Given the description of an element on the screen output the (x, y) to click on. 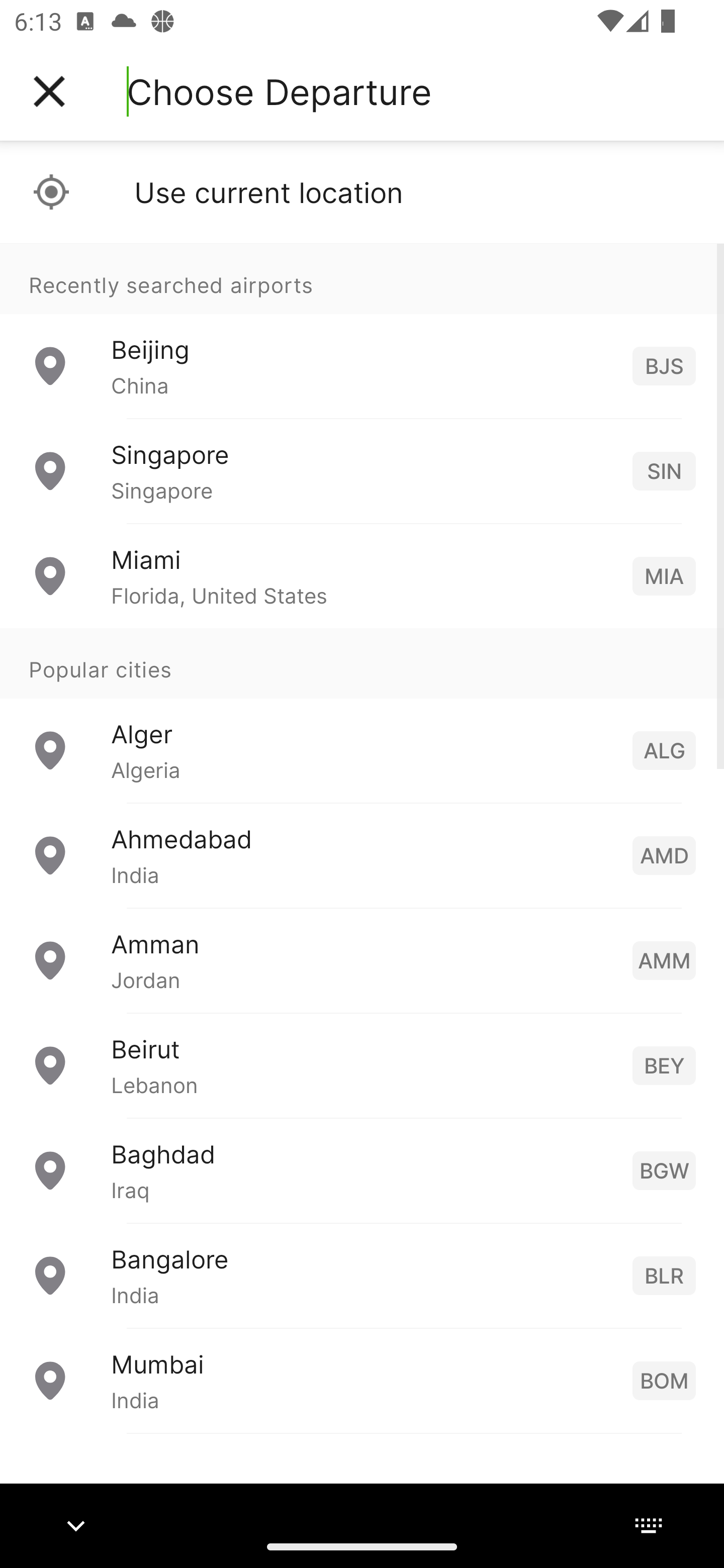
Choose Departure (279, 91)
Use current location (362, 192)
Recently searched airports Beijing China BJS (362, 330)
Recently searched airports (362, 278)
Singapore Singapore SIN (362, 470)
Miami Florida, United States MIA (362, 575)
Popular cities Alger Algeria ALG (362, 715)
Popular cities (362, 663)
Ahmedabad India AMD (362, 854)
Amman Jordan AMM (362, 959)
Beirut Lebanon BEY (362, 1064)
Baghdad Iraq BGW (362, 1170)
Bangalore India BLR (362, 1275)
Mumbai India BOM (362, 1380)
